Given the description of an element on the screen output the (x, y) to click on. 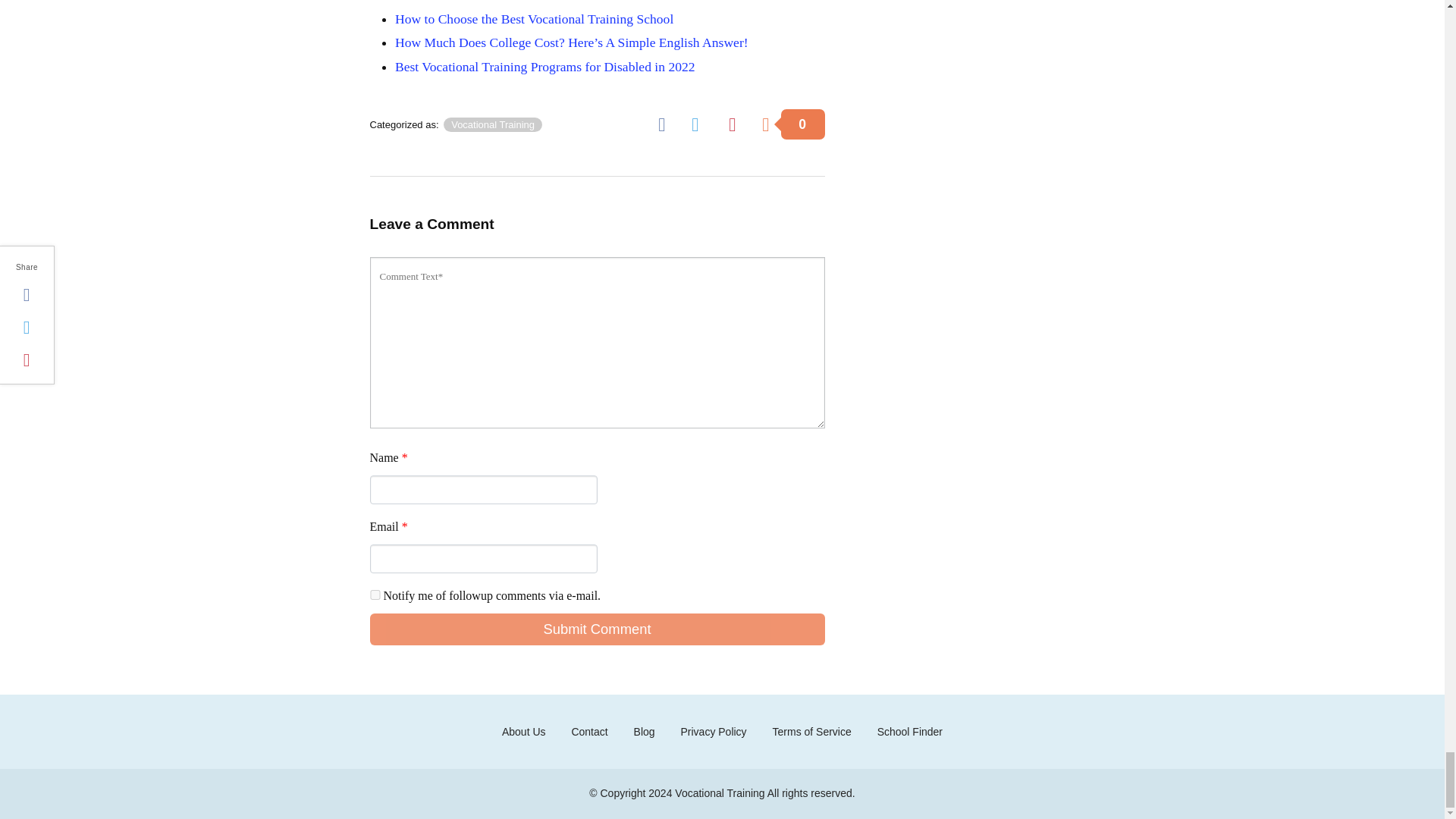
View all posts on Vocational Training (492, 124)
How to Choose the Best Vocational Training School (533, 18)
yes (374, 594)
Share on Facebook (667, 123)
Best Vocational Training Programs for Disabled in 2022 (544, 66)
Comment on This Post (792, 123)
Share on Twitter (700, 123)
Submit Comment (597, 629)
Share on Pinterest (737, 123)
